Given the description of an element on the screen output the (x, y) to click on. 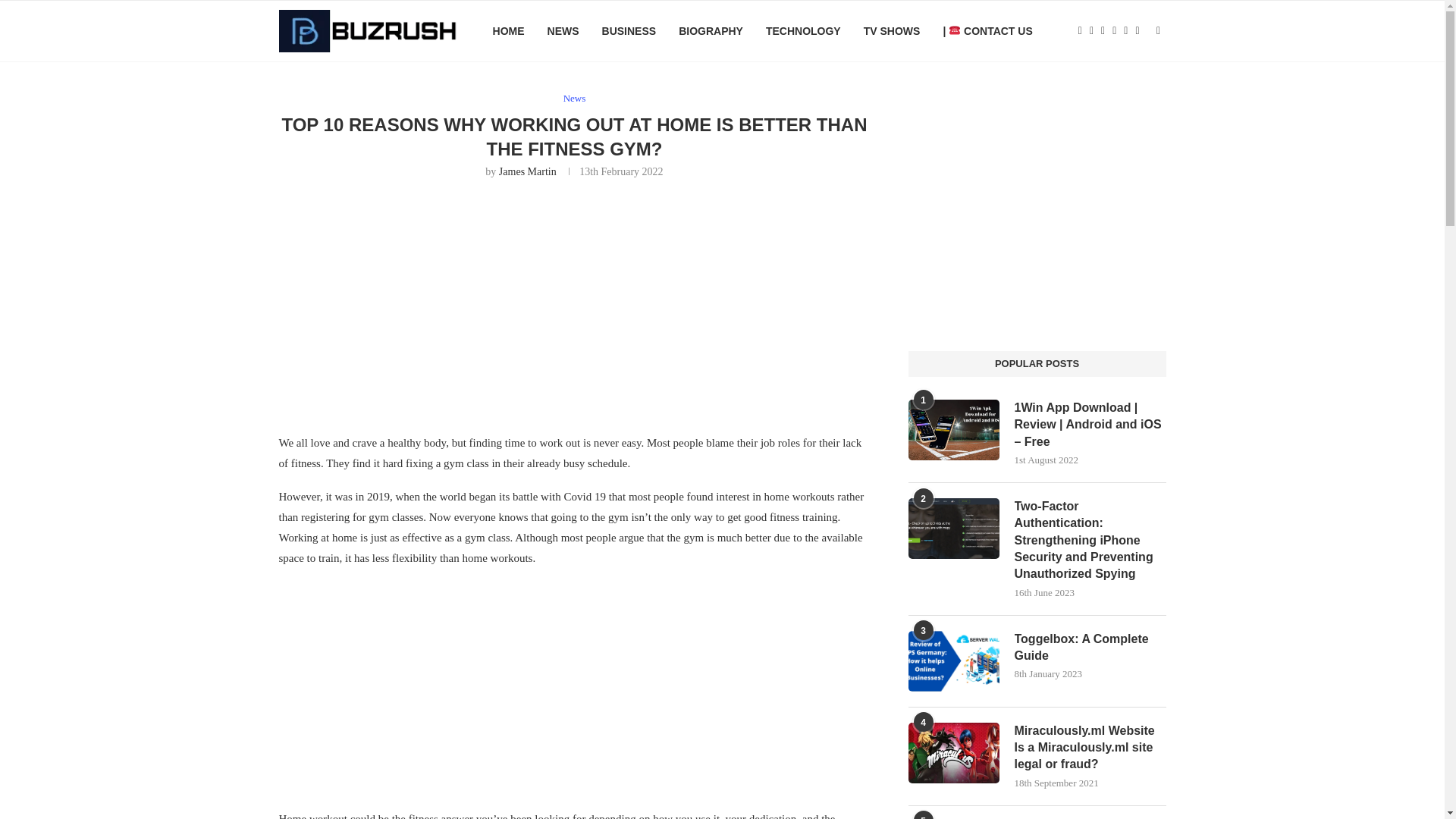
TECHNOLOGY (803, 30)
BIOGRAPHY (710, 30)
Advertisement (574, 304)
James Martin (527, 171)
Advertisement (574, 687)
News (574, 98)
TV SHOWS (891, 30)
BUSINESS (629, 30)
